Given the description of an element on the screen output the (x, y) to click on. 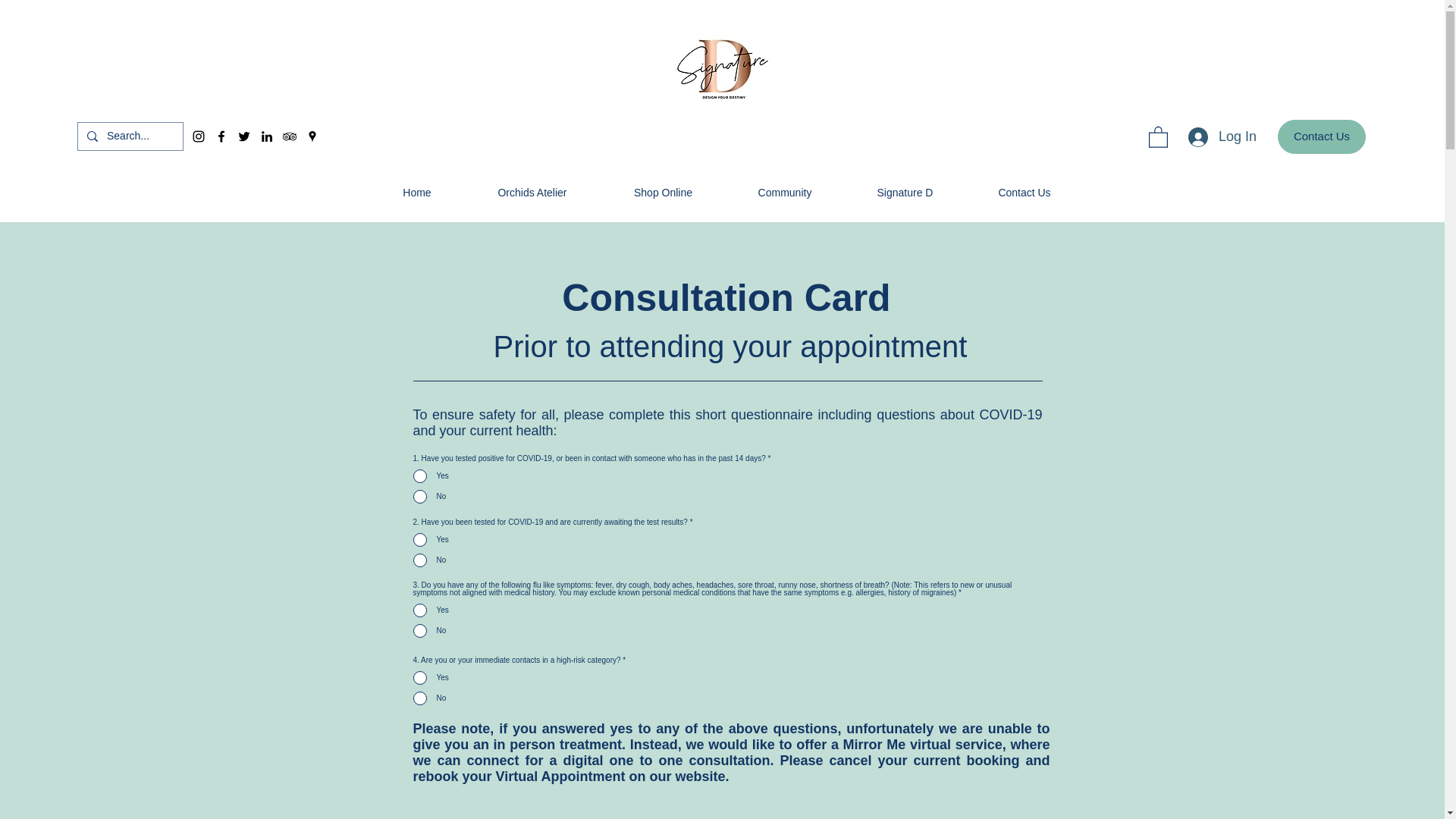
Contact Us (1321, 136)
Signature D (905, 192)
Log In (1221, 136)
Contact Us (1024, 192)
Community (784, 192)
Home (416, 192)
Orchids Atelier (532, 192)
